Given the description of an element on the screen output the (x, y) to click on. 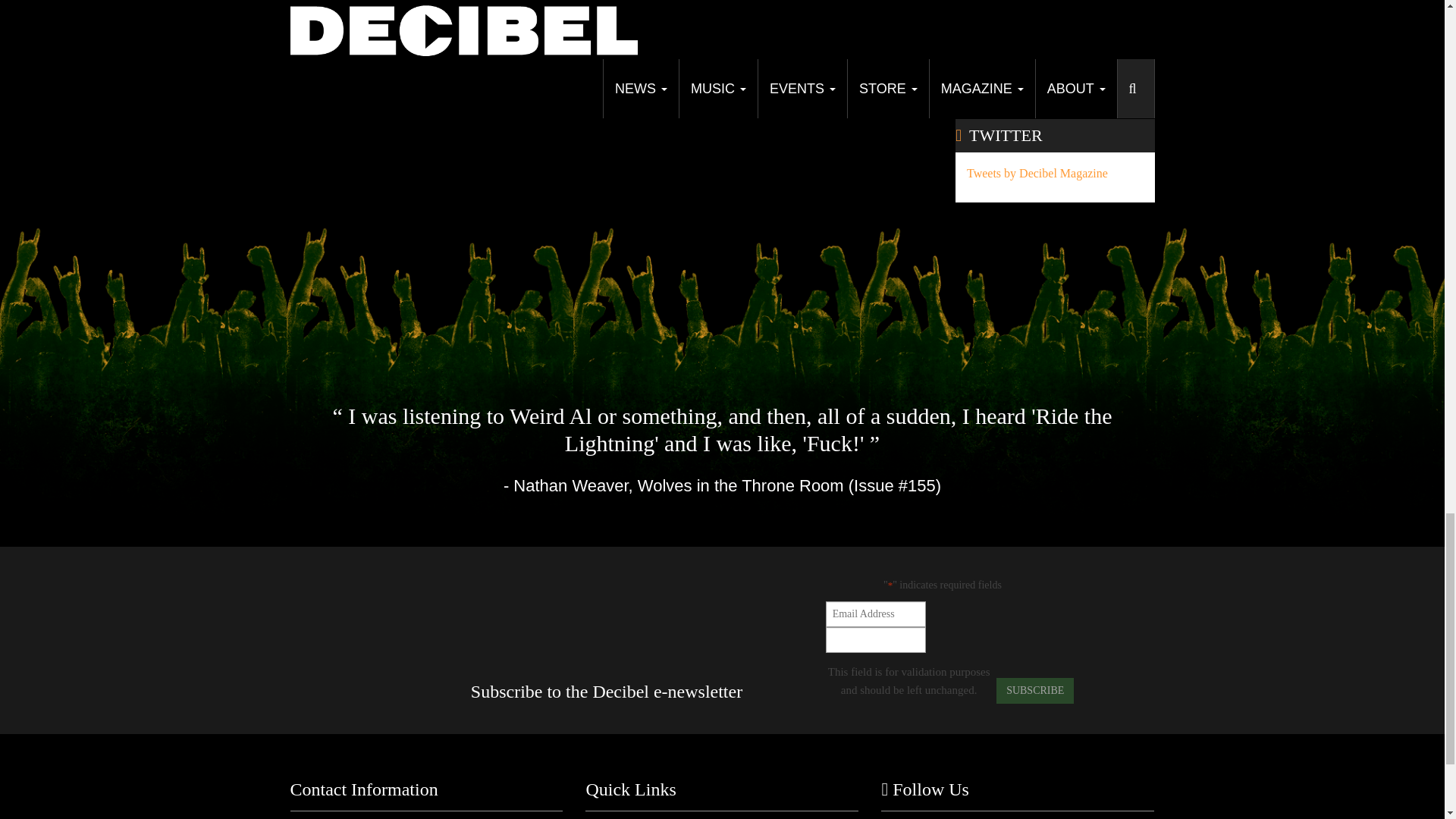
Subscribe (1034, 690)
